Given the description of an element on the screen output the (x, y) to click on. 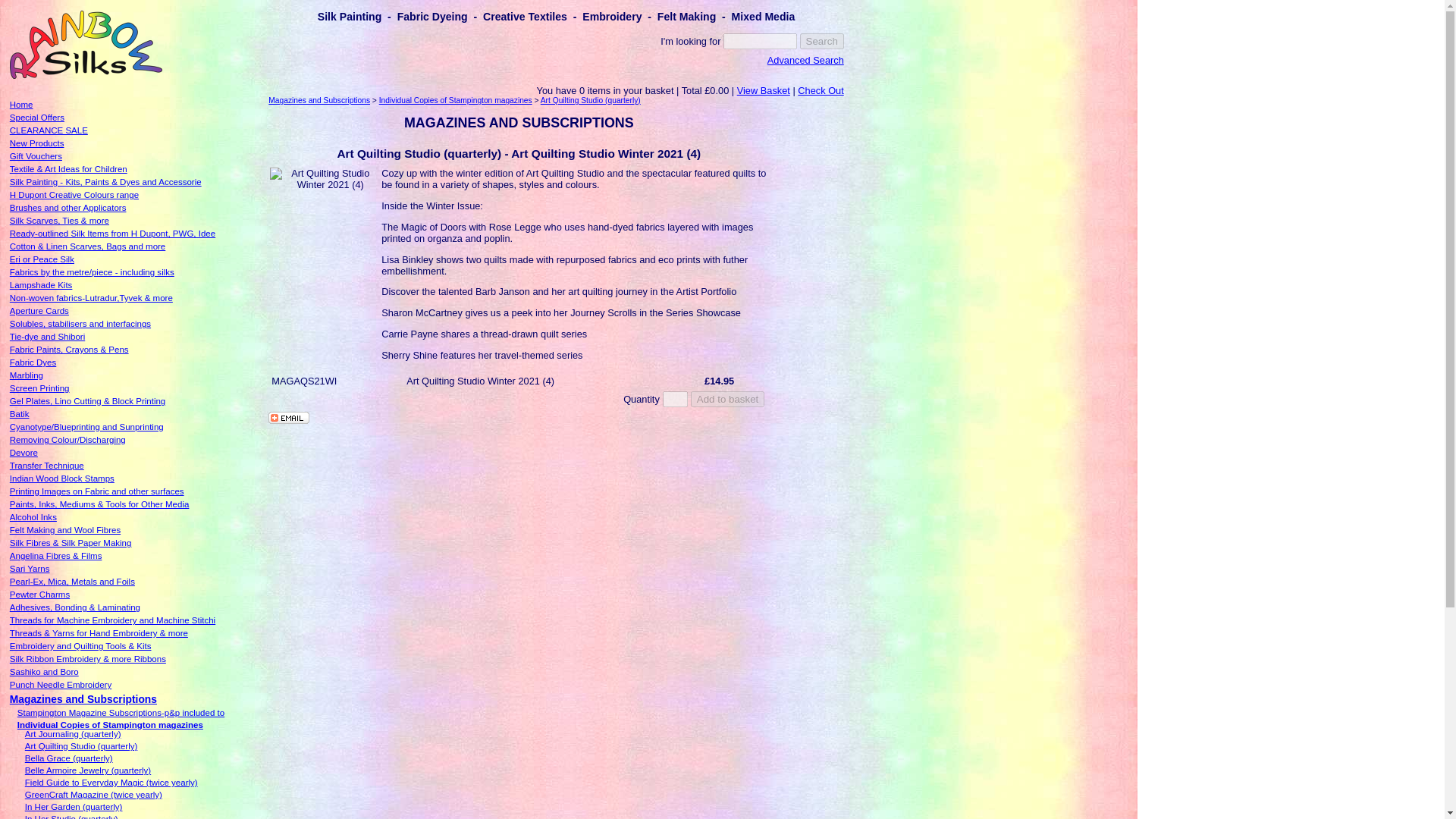
Brushes and other Applicators (68, 207)
Indian Wood Block Stamps (62, 478)
Transfer Technique (47, 465)
Add to basket (727, 399)
Ready-outlined Silk Items from H Dupont, PWG, Idee (112, 233)
Fabric Dyes (33, 361)
Solubles, stabilisers and interfacings (80, 323)
Gift Vouchers (36, 155)
Alcohol Inks (33, 516)
Marbling (26, 375)
Lampshade Kits (41, 284)
Devore (23, 452)
Eri or Peace Silk (42, 258)
Screen Printing (39, 388)
Aperture Cards (39, 310)
